Given the description of an element on the screen output the (x, y) to click on. 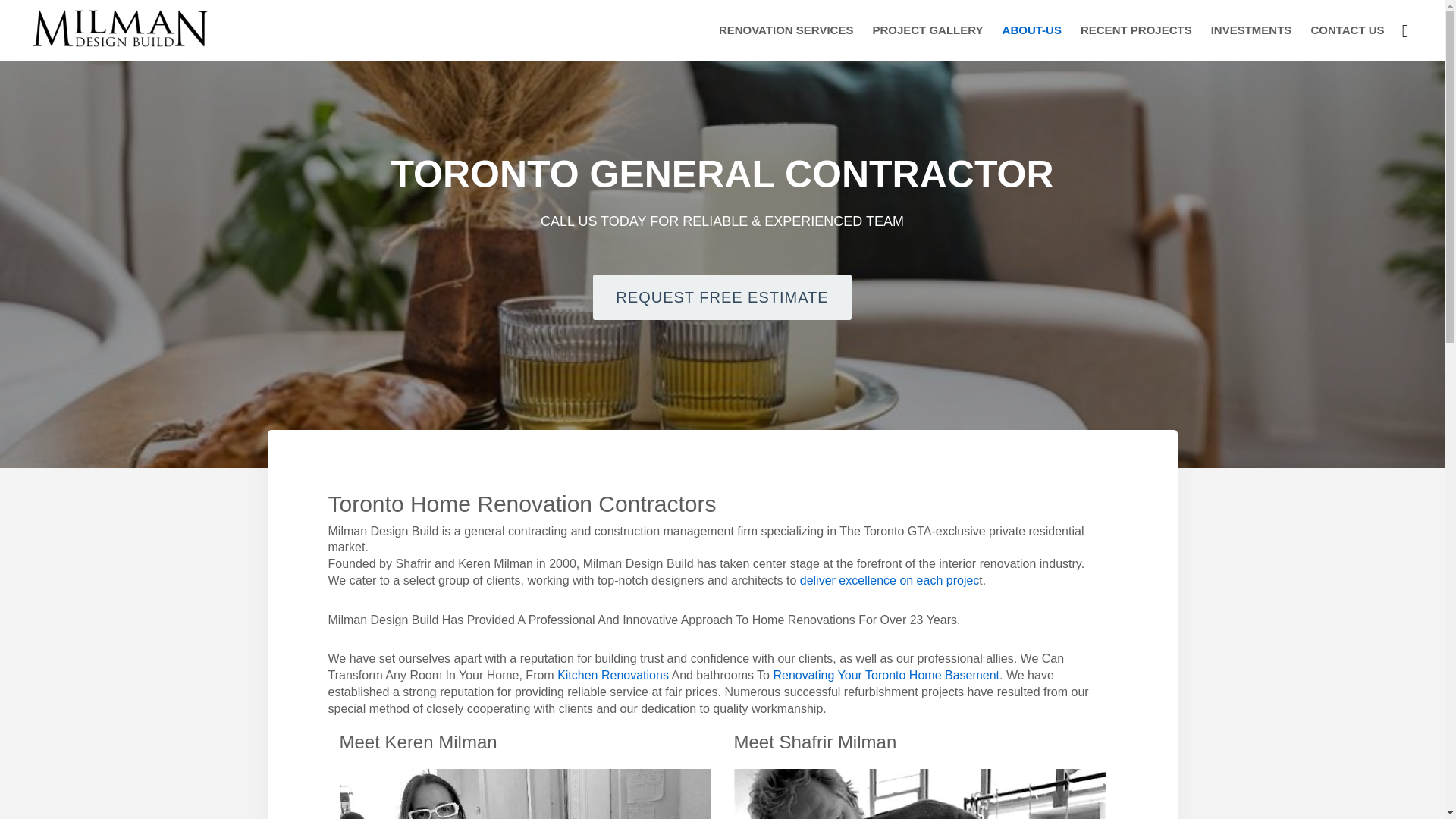
PROJECT GALLERY (927, 29)
Renovating Your Toronto Home Basement (885, 675)
REQUEST FREE ESTIMATE (721, 297)
ABOUT-US (1031, 29)
RECENT PROJECTS (1136, 29)
Kitchen Renovations (612, 675)
RENOVATION SERVICES (786, 29)
INVESTMENTS (1252, 29)
CONTACT US (1347, 29)
